Given the description of an element on the screen output the (x, y) to click on. 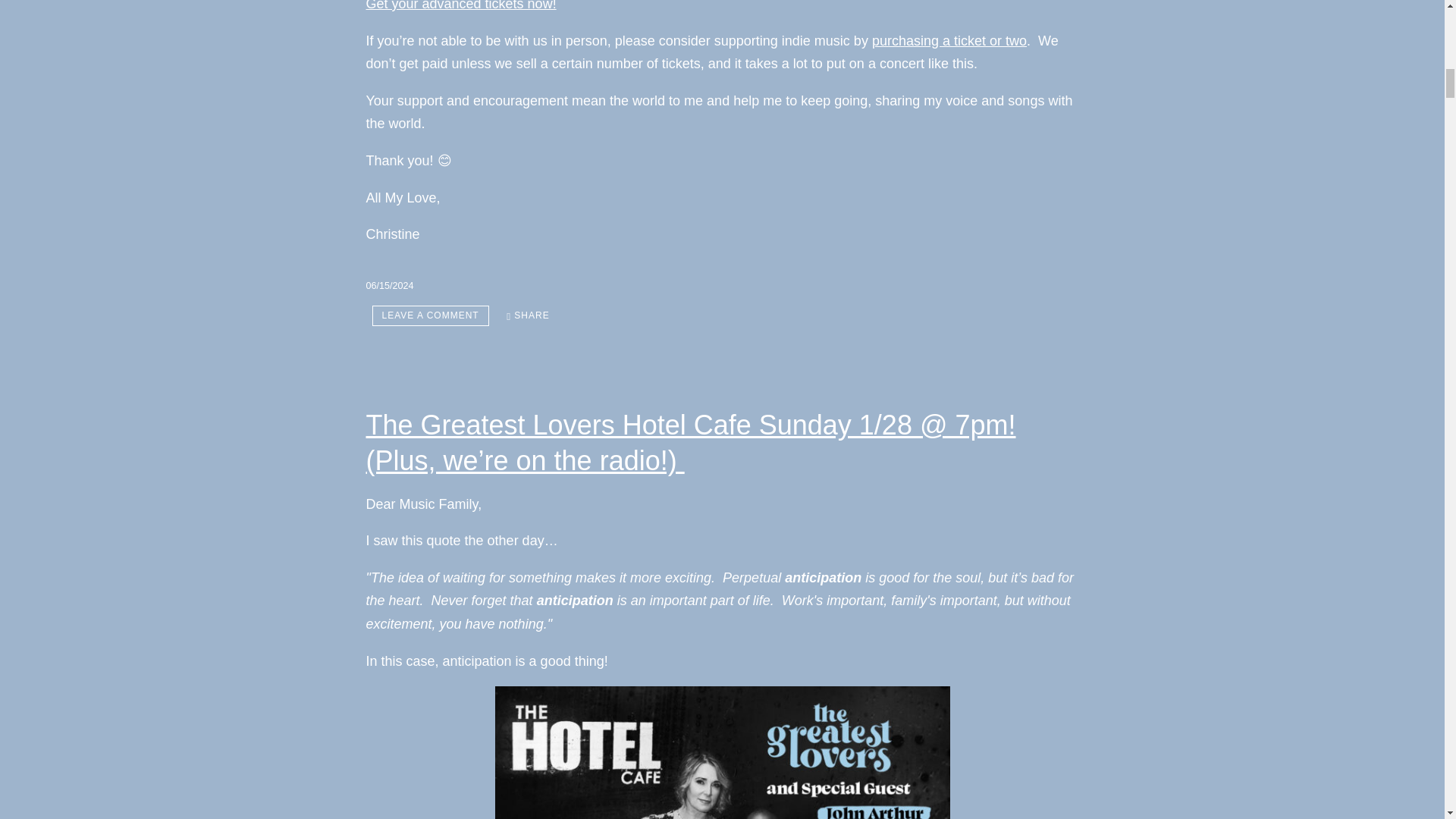
Get your advanced tickets now! (460, 5)
Leave a comment (429, 315)
June 15, 2024 07:00 (389, 285)
purchasing a ticket or two (949, 40)
LEAVE A COMMENT (429, 315)
SHARE (528, 315)
